Given the description of an element on the screen output the (x, y) to click on. 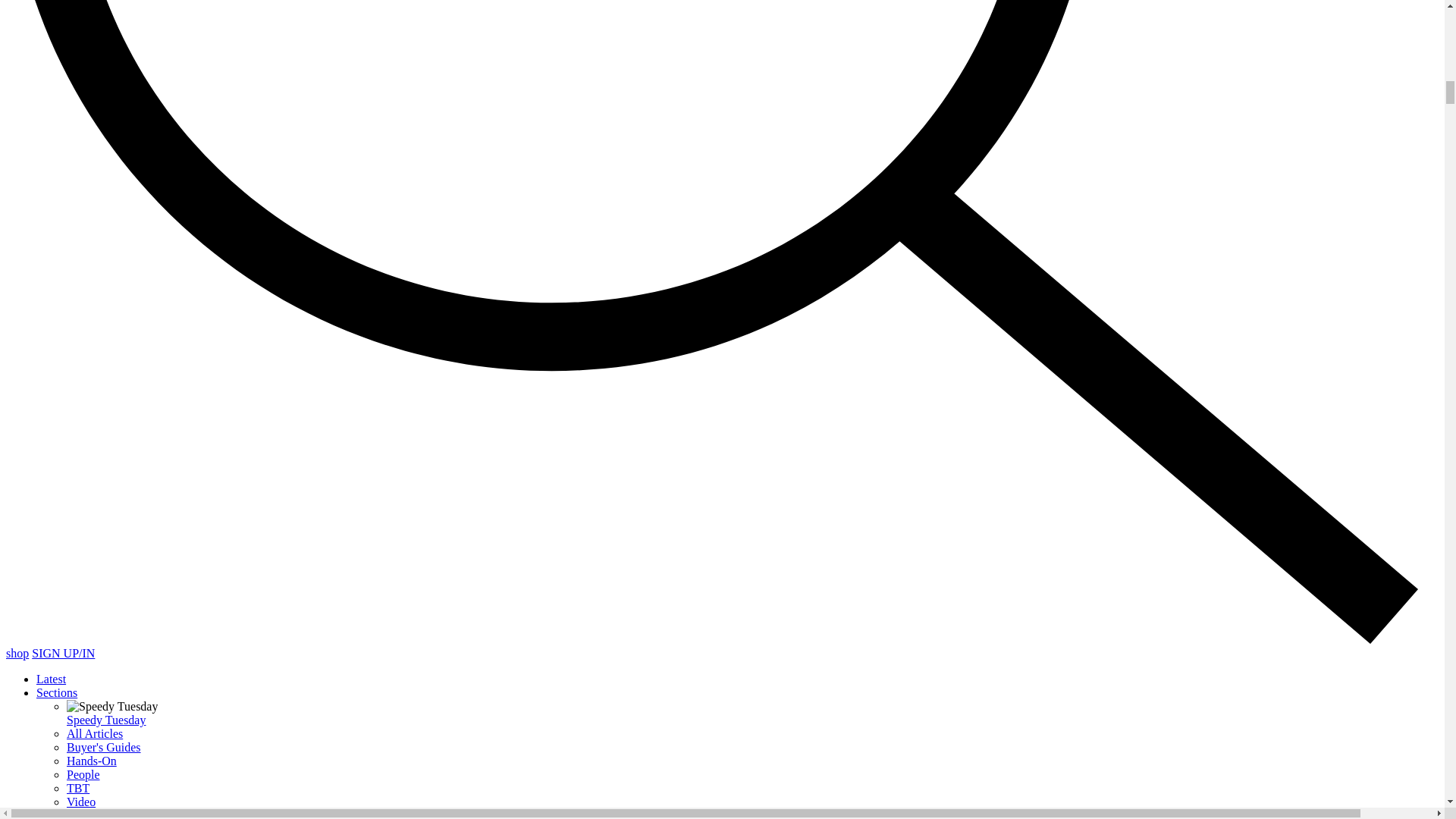
Video (81, 801)
Speedy Tuesday (105, 719)
Latest (50, 678)
All Articles (94, 733)
Buyer's Guides (103, 747)
Hands-On (91, 760)
Sections (56, 692)
TBT (77, 788)
People (83, 774)
shop (17, 653)
